Given the description of an element on the screen output the (x, y) to click on. 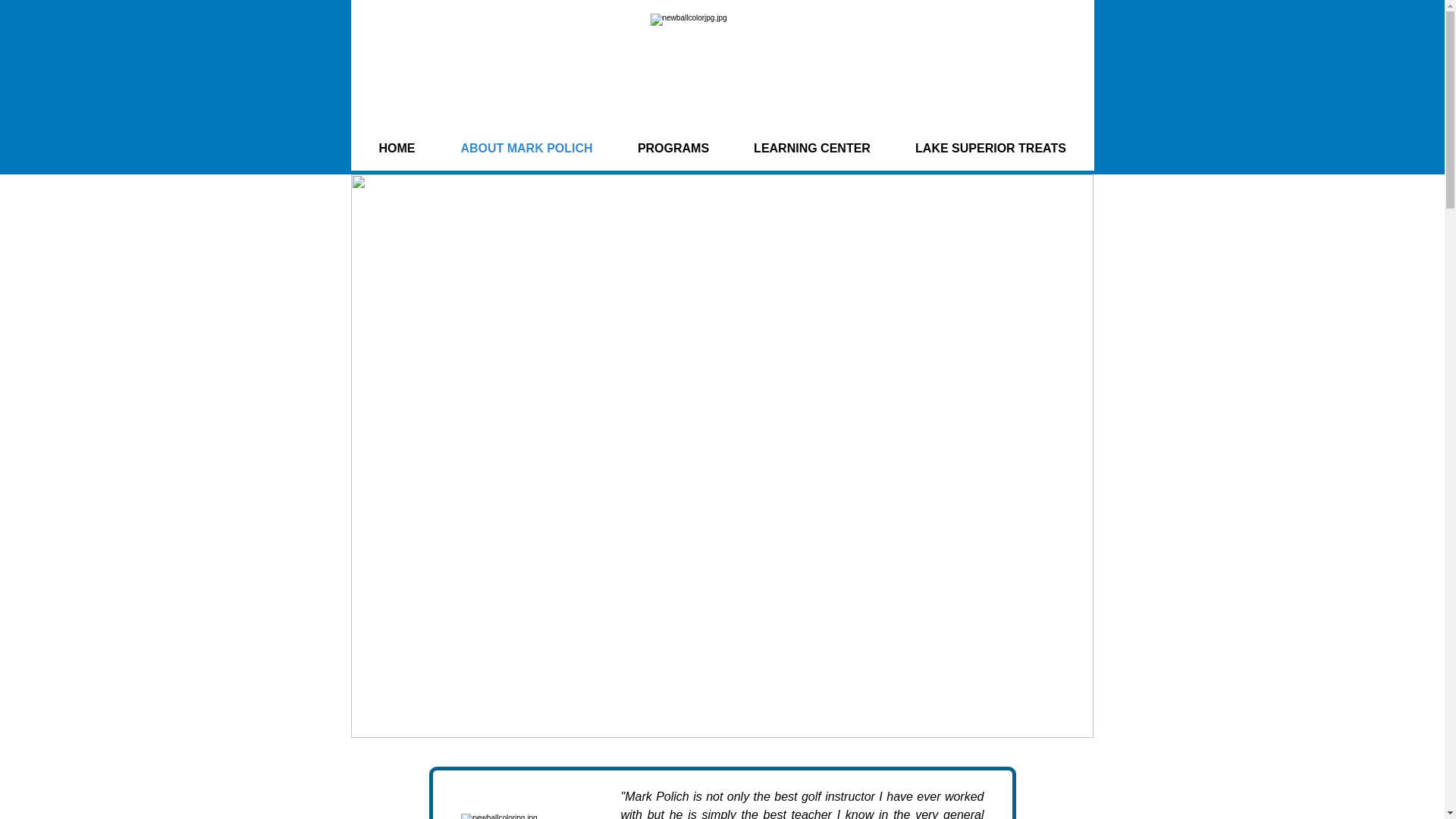
LEARNING CENTER (811, 148)
LAKE SUPERIOR TREATS (991, 148)
PROGRAMS (673, 148)
HOME (397, 148)
ABOUT MARK POLICH (526, 148)
